Given the description of an element on the screen output the (x, y) to click on. 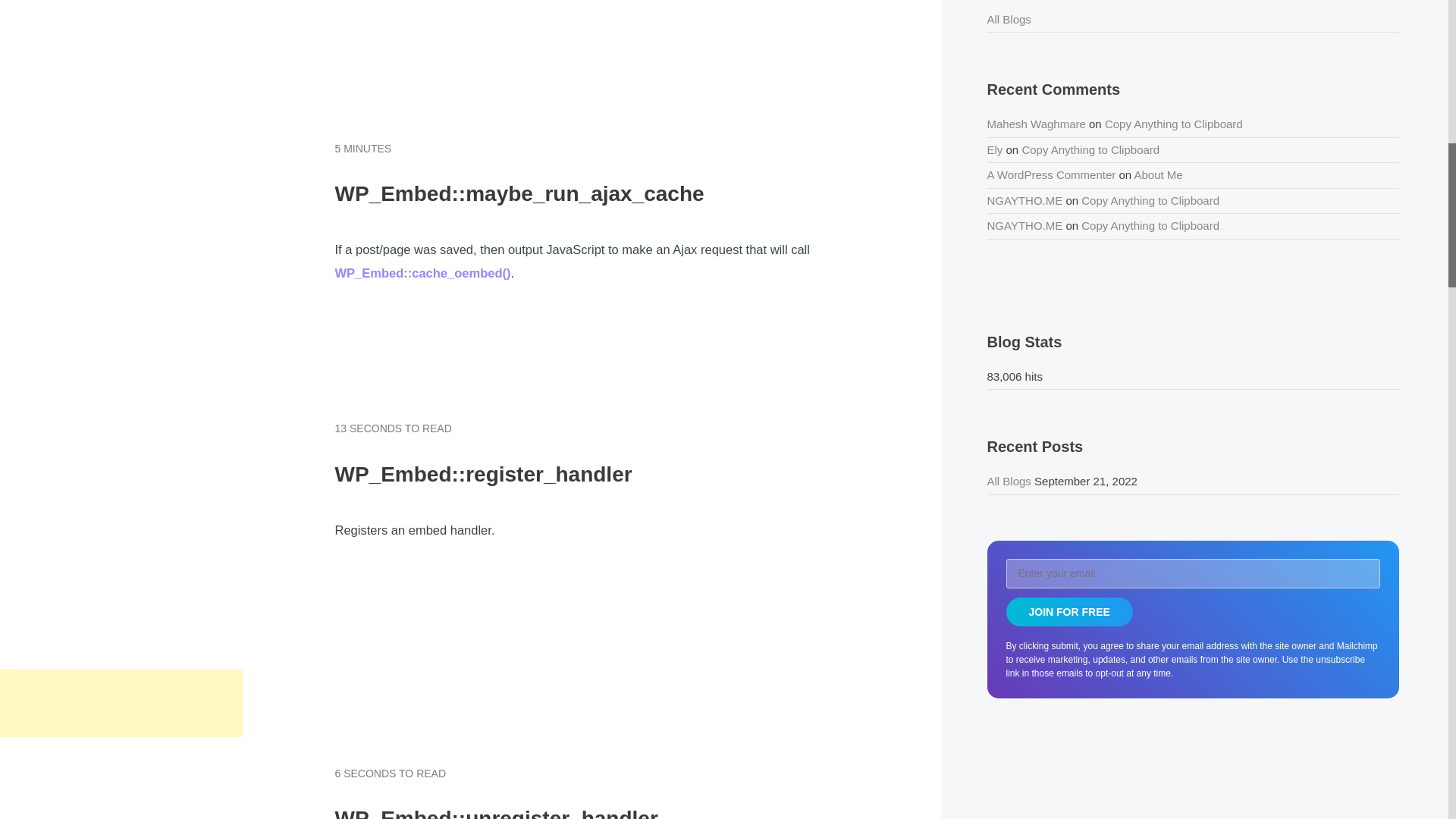
Ely (995, 148)
All Blogs (1008, 18)
Enter your email (1193, 572)
Copy Anything to Clipboard (1174, 123)
Mahesh Waghmare (1036, 123)
